Given the description of an element on the screen output the (x, y) to click on. 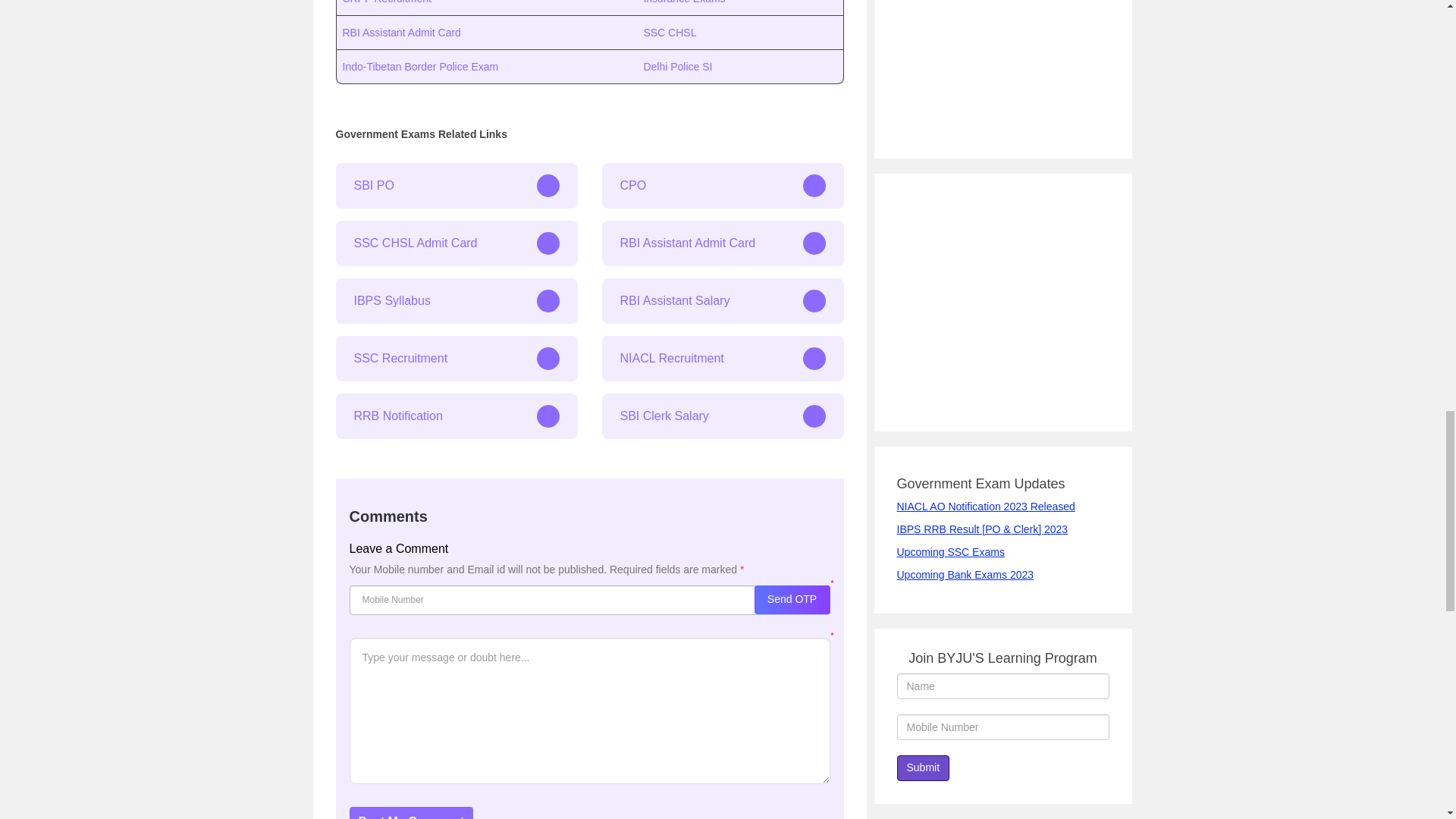
IBPS Syllabus (455, 300)
SSC CHSL Admit Card (455, 243)
SBI PO (455, 185)
RBI Assistant Salary (723, 300)
SSC Recruitment (455, 358)
SBI Clerk Salary (723, 415)
RBI Assistant Admit Card (723, 243)
NIACL Recruitment (723, 358)
RRB Notification (455, 415)
CPO (723, 185)
